Given the description of an element on the screen output the (x, y) to click on. 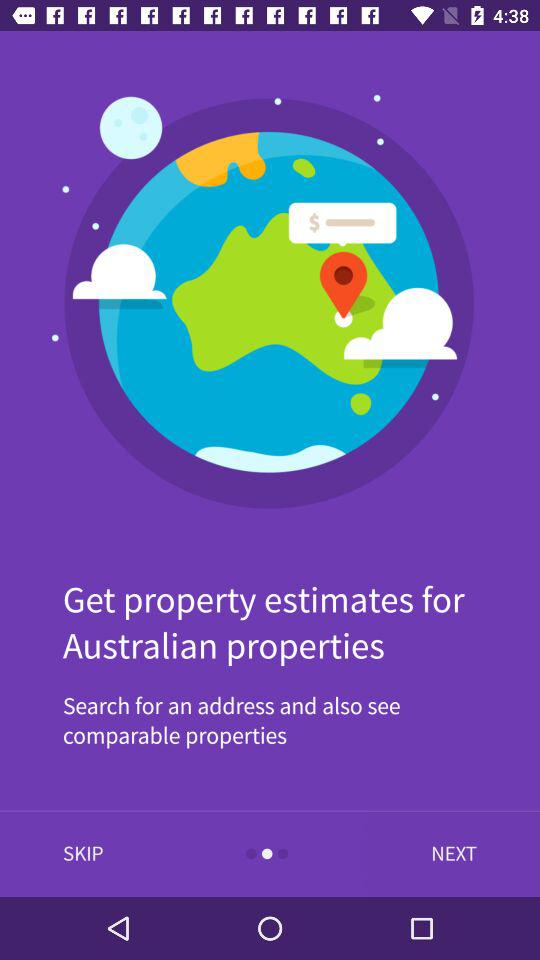
press icon below search for an icon (449, 853)
